Given the description of an element on the screen output the (x, y) to click on. 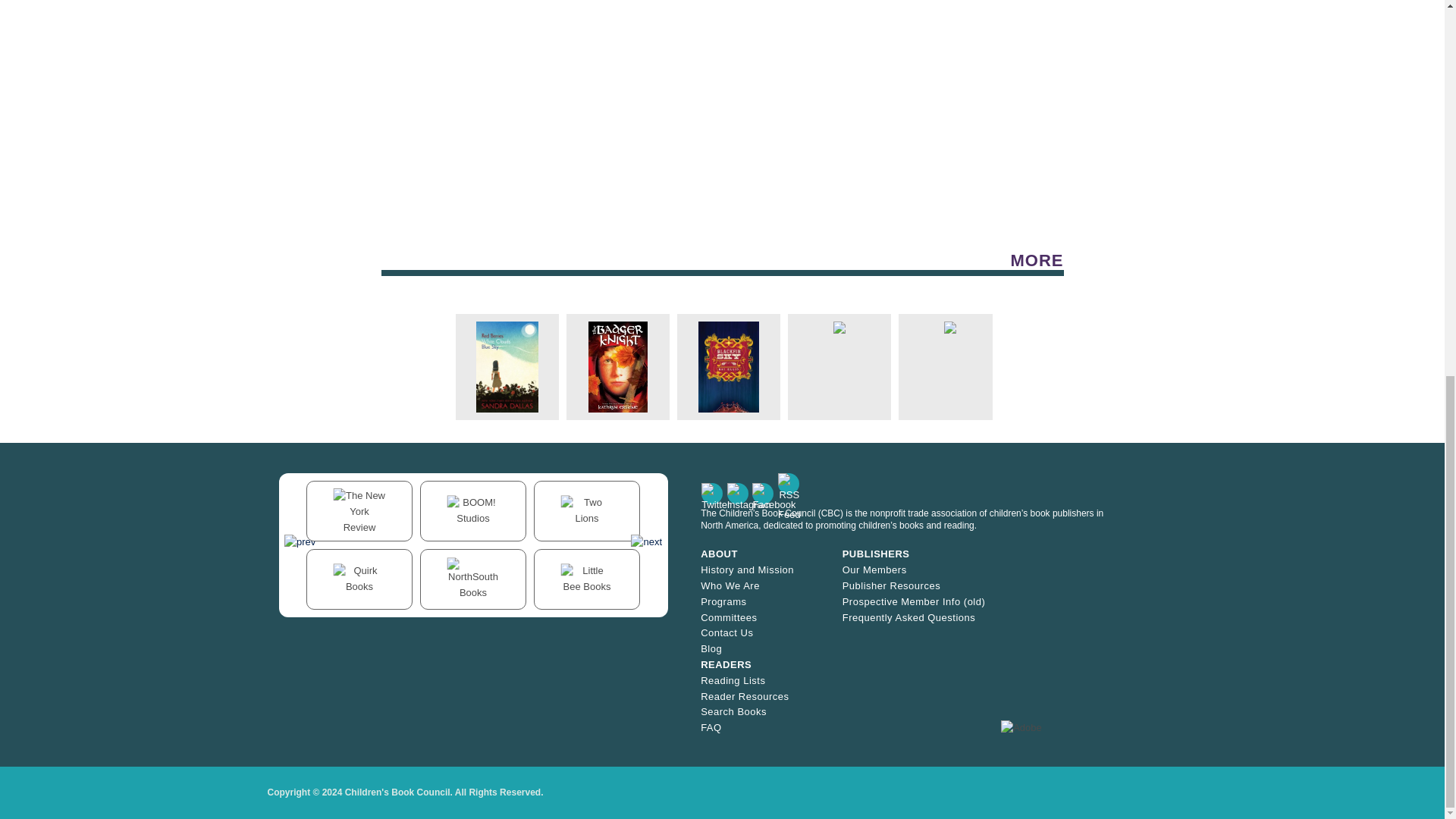
previous (299, 541)
next (646, 541)
